Given the description of an element on the screen output the (x, y) to click on. 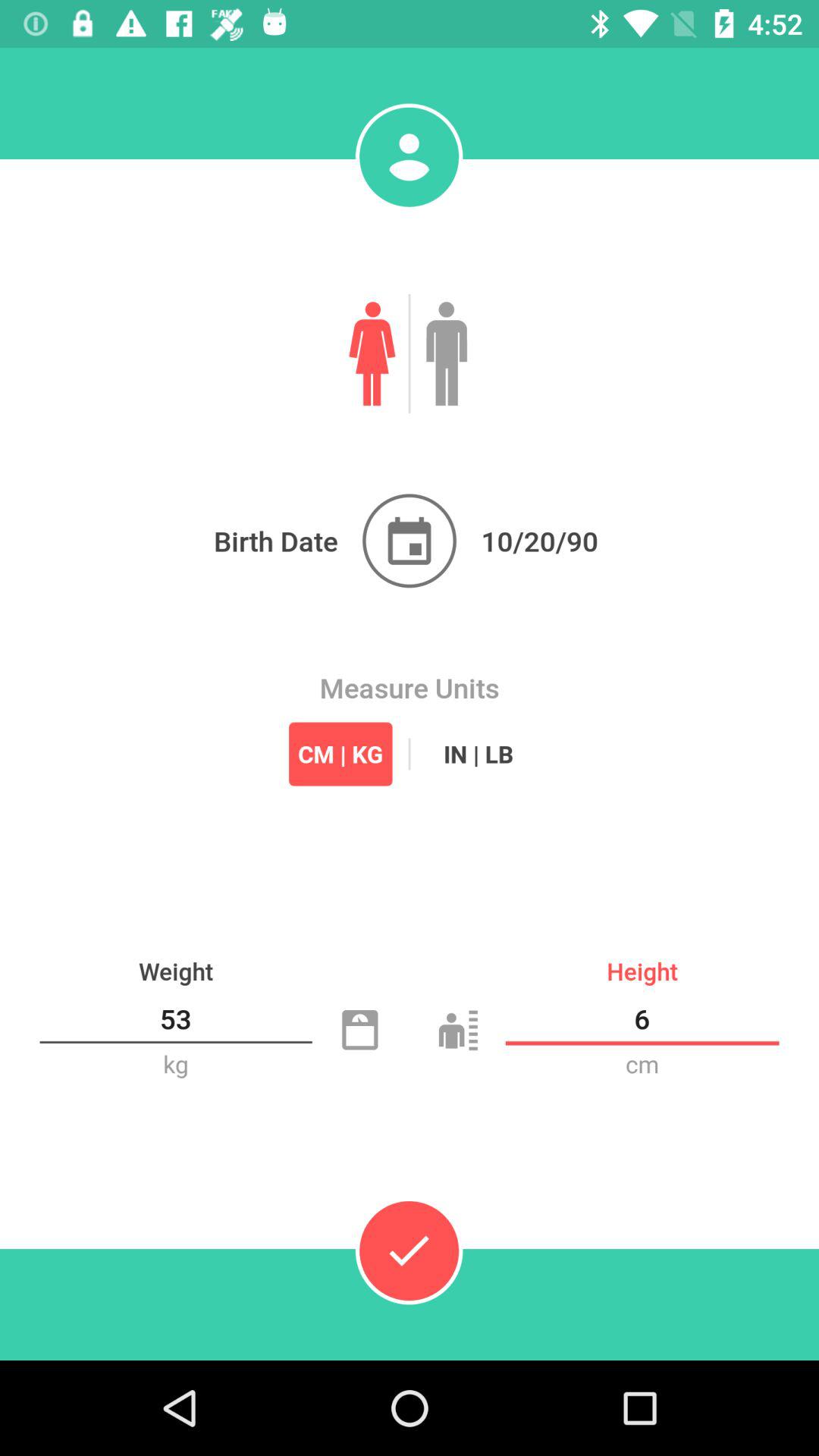
select your birth date (409, 540)
